Given the description of an element on the screen output the (x, y) to click on. 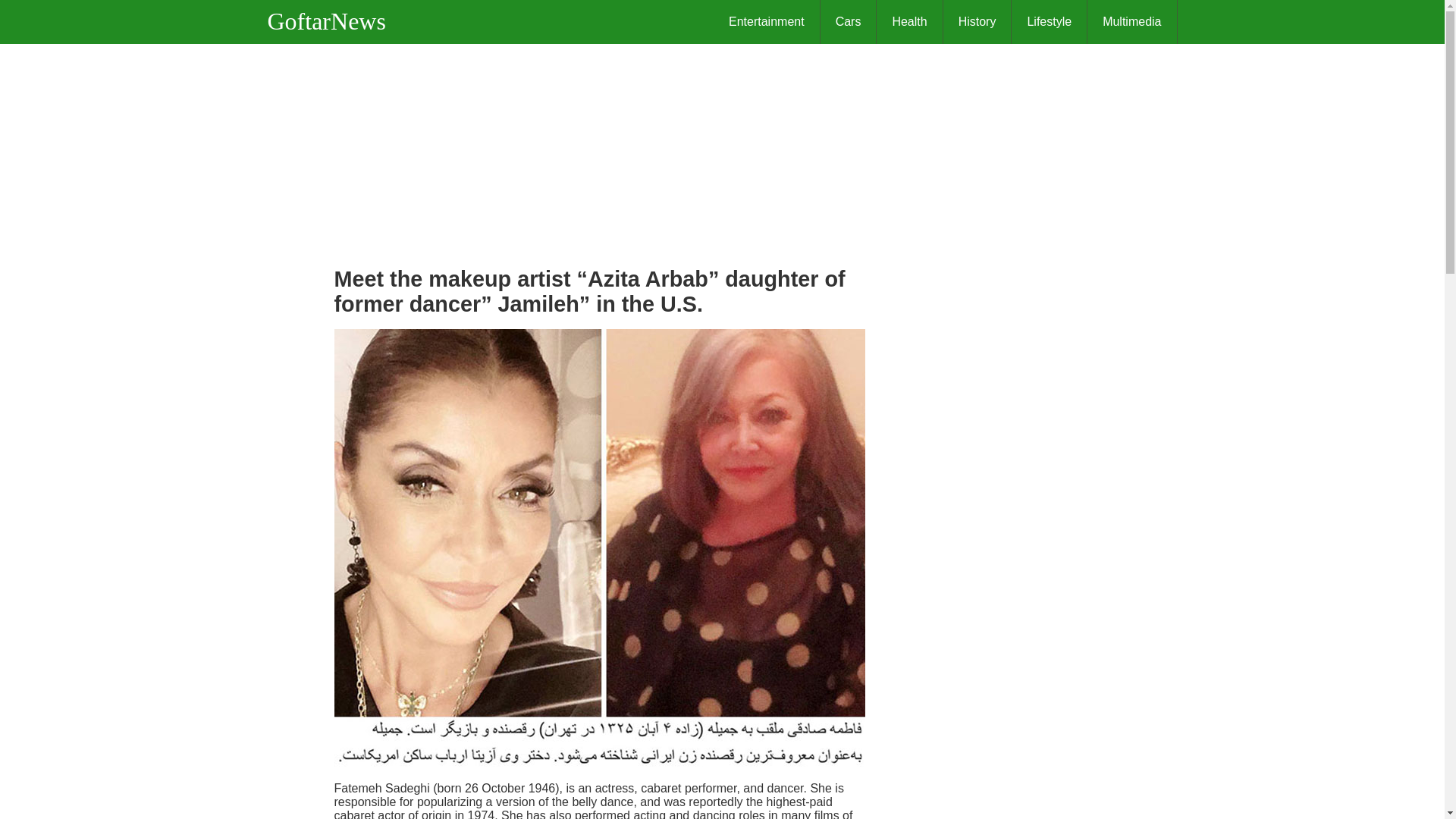
GoftarNews (333, 21)
Lifestyle (1049, 22)
Multimedia (1131, 22)
Cars (849, 22)
Entertainment (767, 22)
Health (909, 22)
Advertisement (598, 150)
History (977, 22)
